Given the description of an element on the screen output the (x, y) to click on. 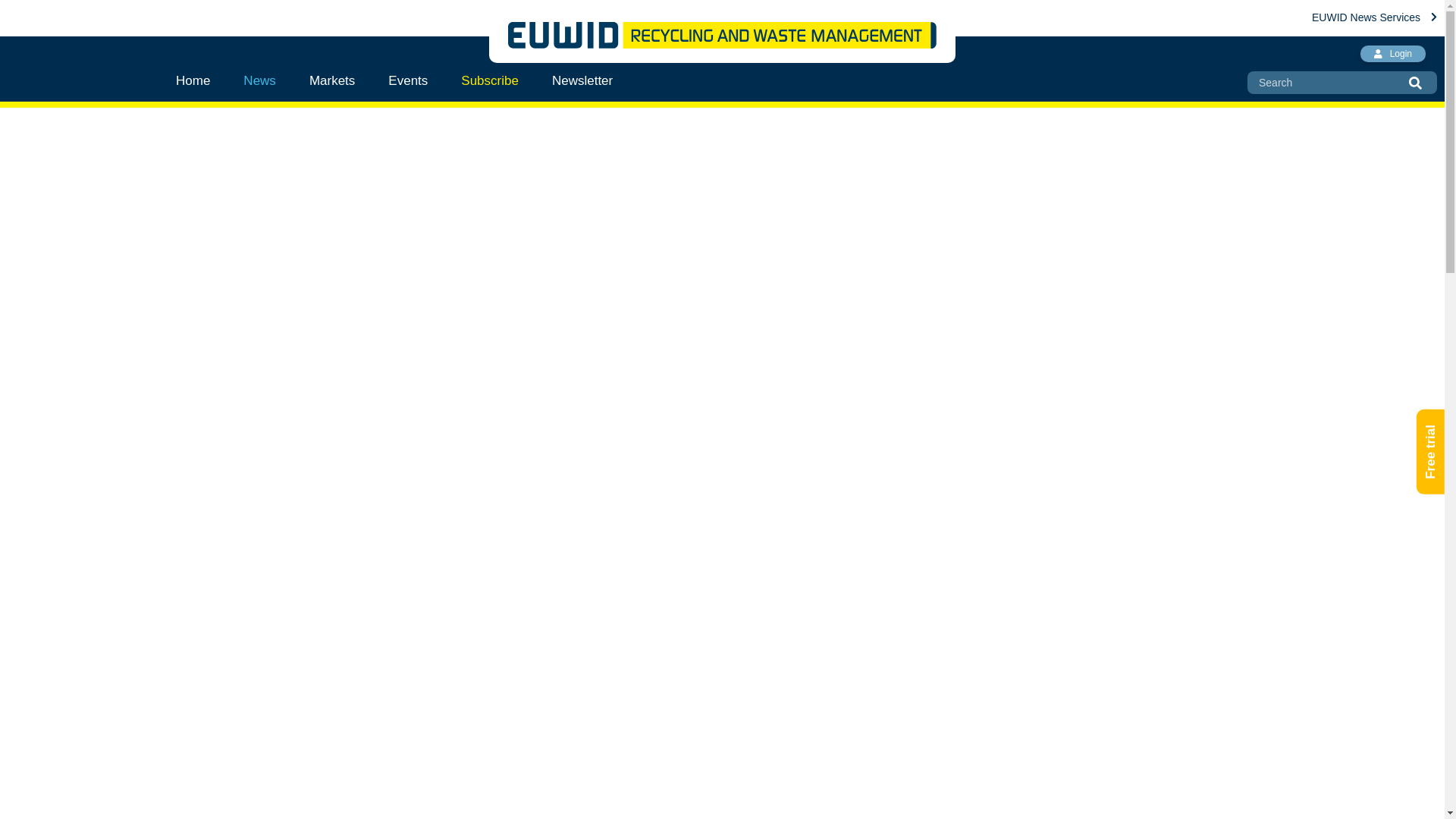
Login (1392, 53)
News (259, 80)
Subscribe (489, 80)
Newsletter (581, 80)
EUWID News Services (1374, 17)
Events (407, 80)
Markets (331, 80)
Home (201, 80)
